Given the description of an element on the screen output the (x, y) to click on. 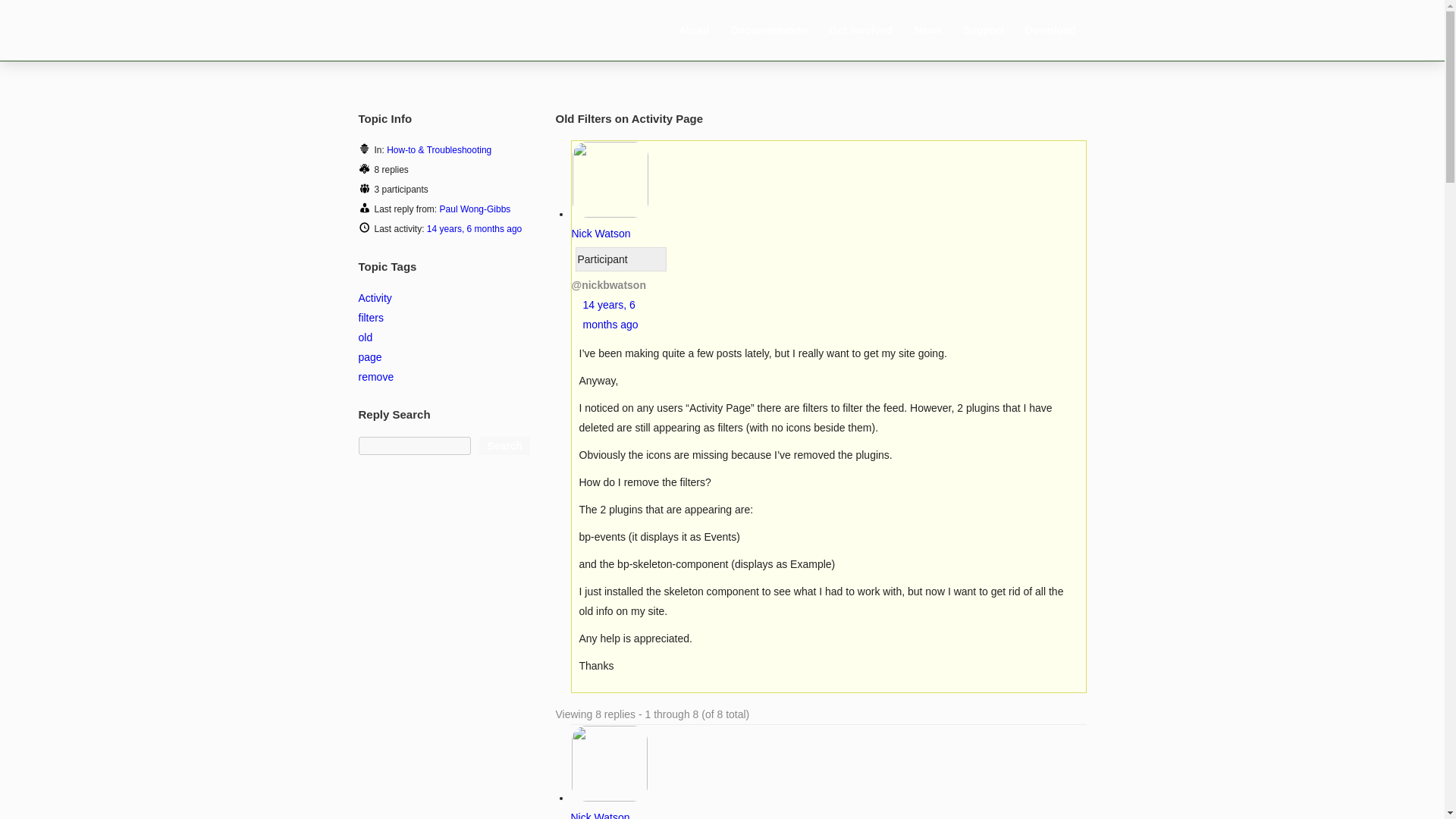
Get Involved (861, 29)
remove (375, 377)
Activity (374, 297)
filters (370, 317)
old (365, 337)
Documentation (768, 29)
Support (983, 29)
Nick Watson (608, 805)
News (927, 29)
About (693, 29)
BuddyPress.org (441, 29)
Paul Wong-Gibbs (475, 208)
page (369, 357)
14 years, 6 months ago (473, 228)
14 years, 6 months ago (609, 314)
